Given the description of an element on the screen output the (x, y) to click on. 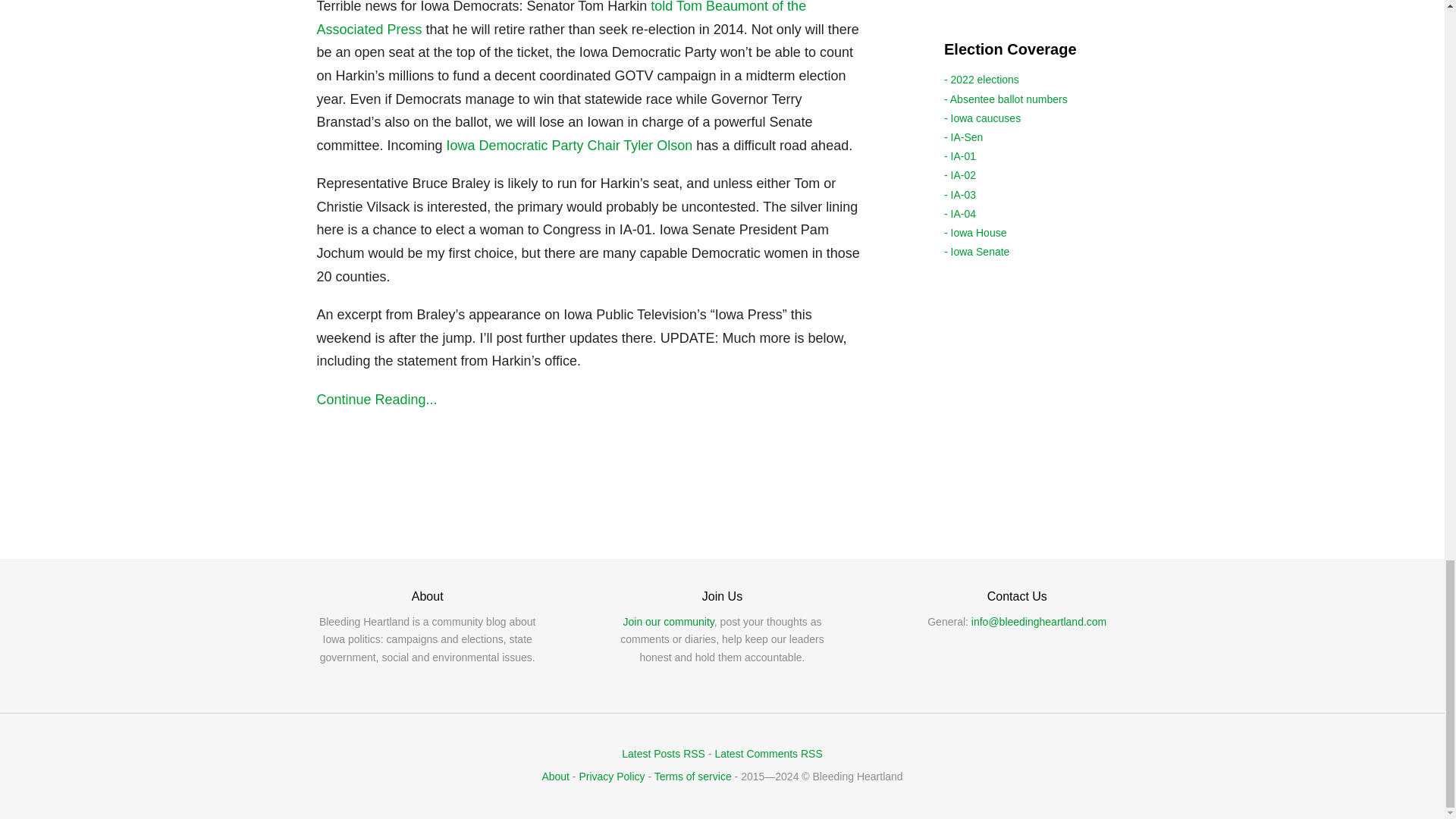
told Tom Beaumont of the Associated Press (561, 18)
Continue Reading... (593, 399)
Iowa Democratic Party Chair Tyler Olson (569, 145)
